Given the description of an element on the screen output the (x, y) to click on. 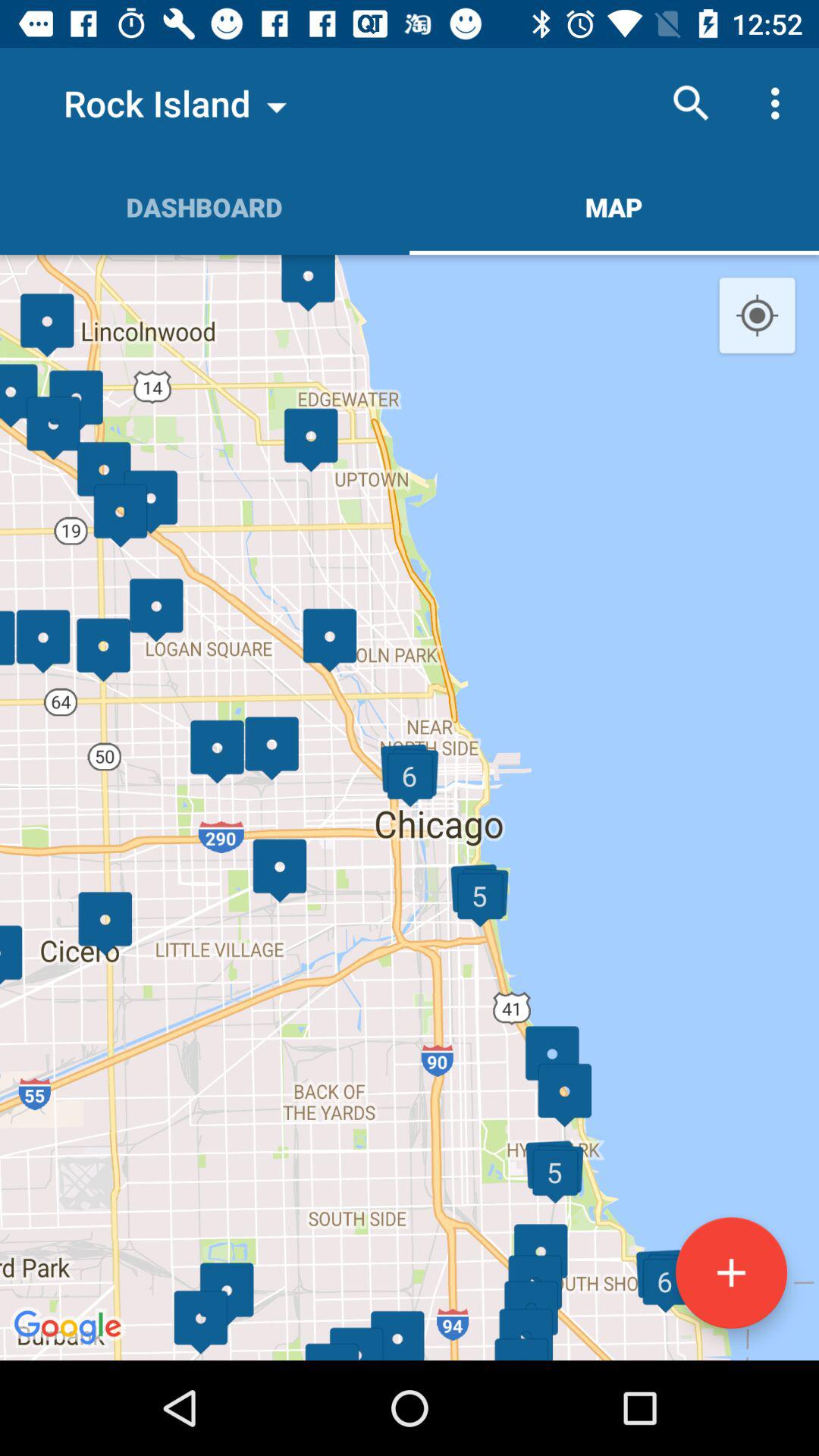
choose icon to the right of the rock island item (691, 103)
